Given the description of an element on the screen output the (x, y) to click on. 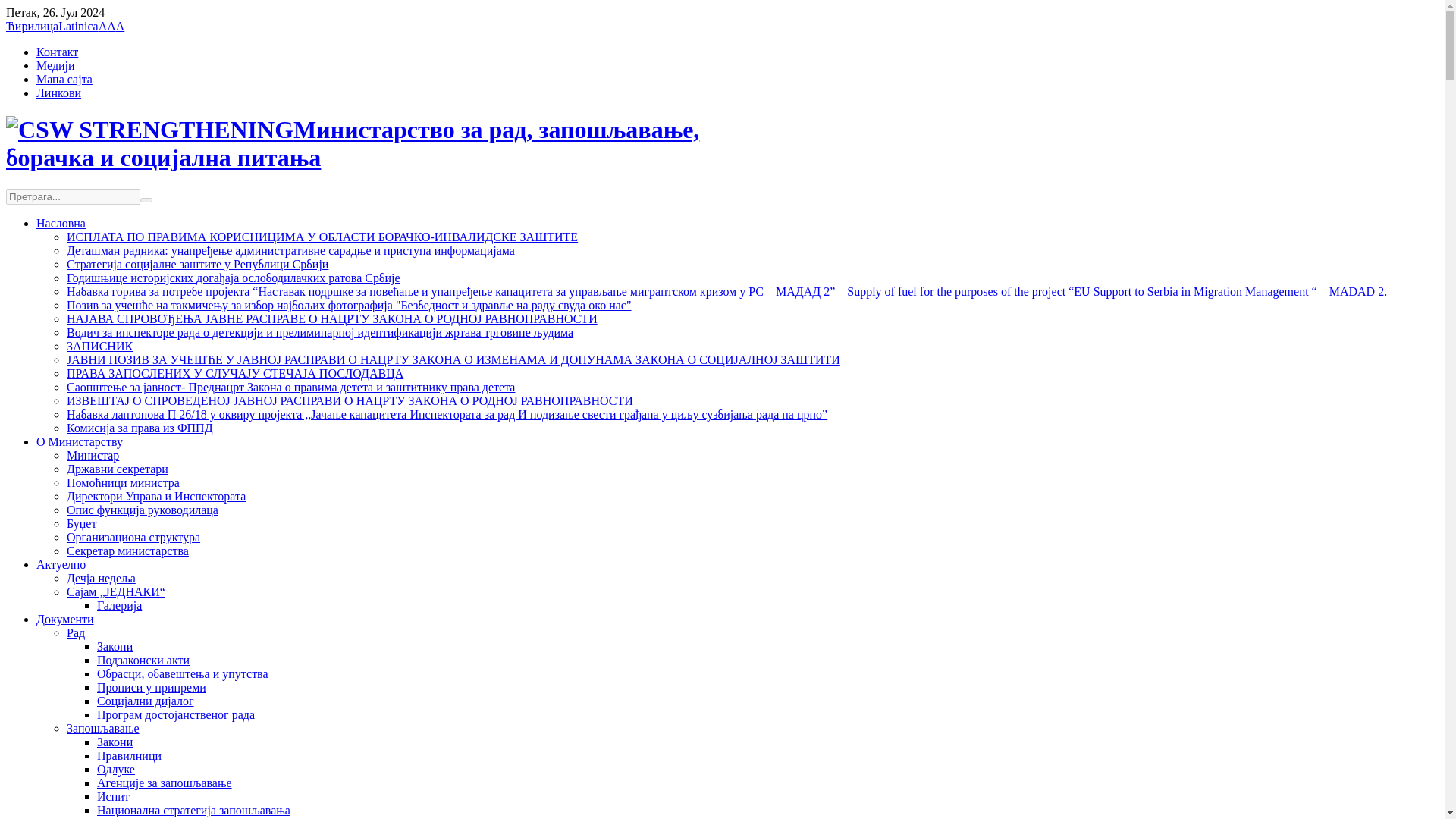
Latinica (77, 25)
